Given the description of an element on the screen output the (x, y) to click on. 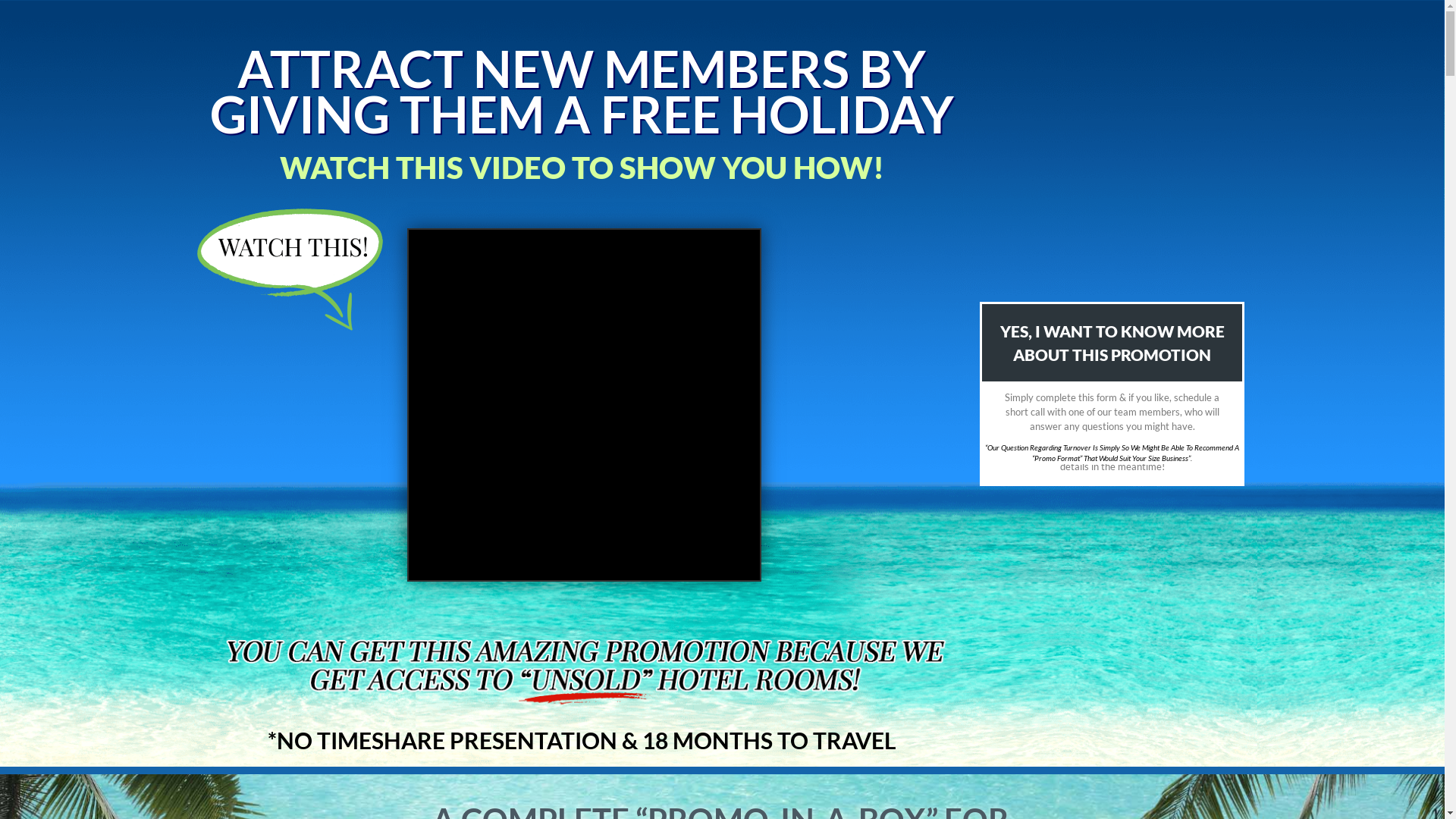
vimeo Video Player Element type: hover (583, 404)
